Given the description of an element on the screen output the (x, y) to click on. 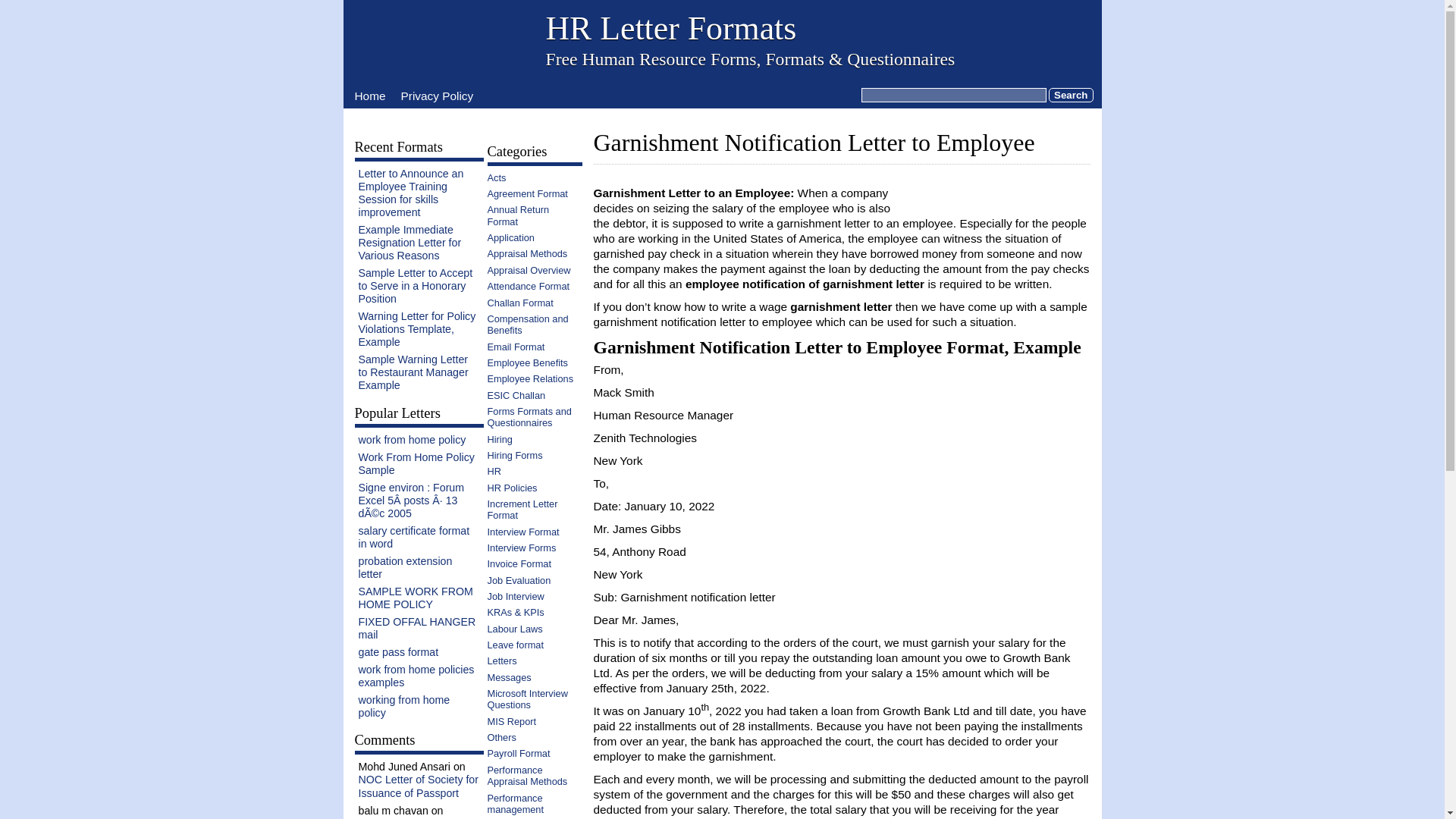
work from home policy (411, 439)
NOC Letter of Society for Issuance of Passport (418, 785)
working from home policy (403, 706)
Sample Letter to Accept to Serve in a Honorary Position (414, 285)
Example Immediate Resignation Letter for Various Reasons (409, 242)
Search (1070, 94)
probation extension letter (404, 567)
Difference Between Experience Letter and Service Certificate (410, 818)
probation extension letter (404, 567)
salary certificate format in word (413, 536)
